Given the description of an element on the screen output the (x, y) to click on. 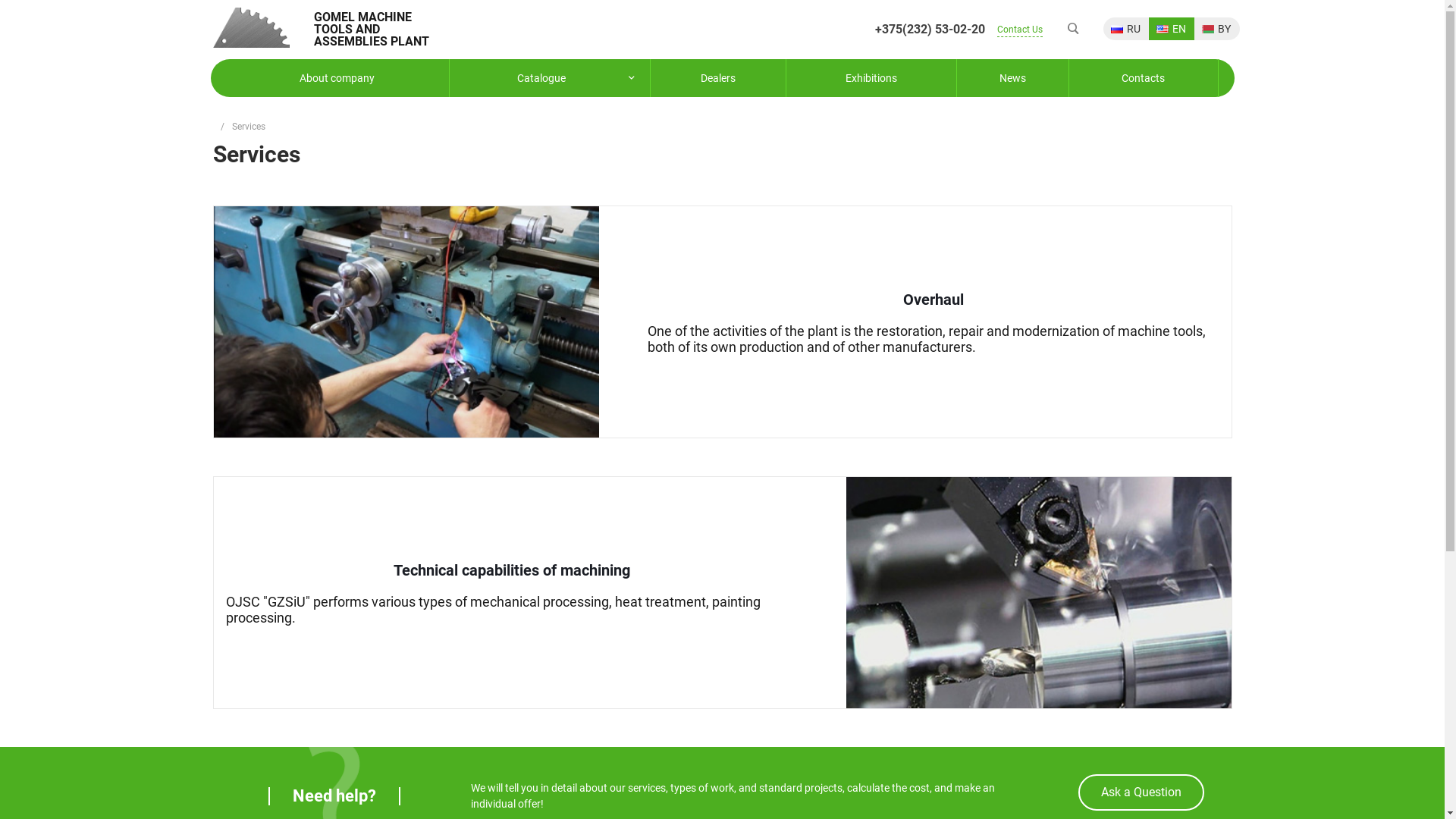
EN Element type: text (1170, 28)
+375(232) 53-02-20 Element type: text (930, 29)
Catalogue Element type: text (548, 78)
Contacts Element type: text (1143, 78)
About company Element type: text (336, 78)
Exhibitions Element type: text (870, 78)
Services Element type: text (248, 126)
News Element type: text (1012, 78)
RU Element type: text (1125, 28)
Dealers Element type: text (717, 78)
BY Element type: text (1216, 28)
logo.png Element type: hover (250, 27)
